Given the description of an element on the screen output the (x, y) to click on. 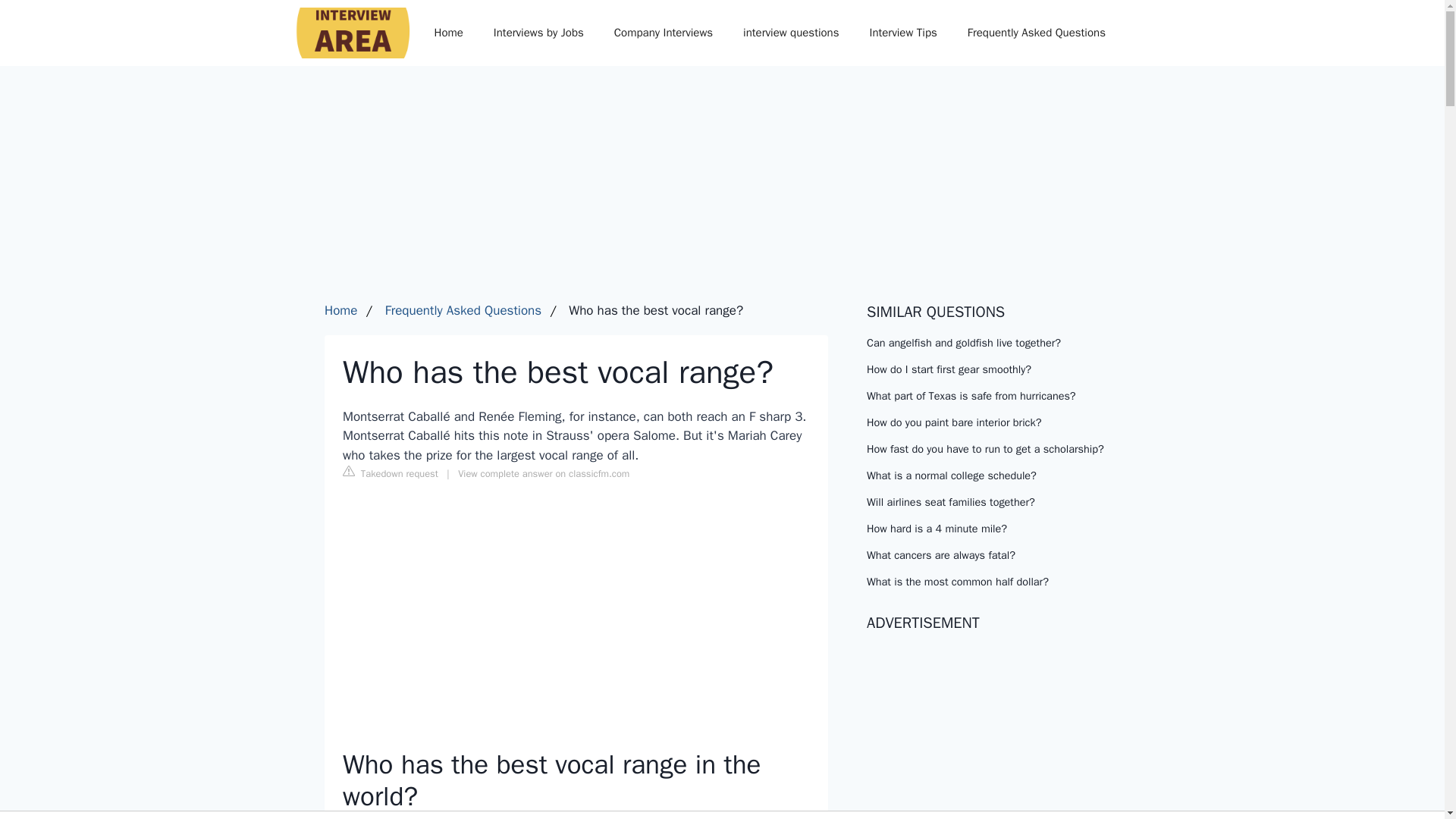
Takedown request (390, 473)
Interviews by Jobs (538, 32)
Home (448, 32)
Interview Area (342, 31)
Company Interviews (663, 32)
Interview Area (342, 32)
Home (340, 310)
Frequently Asked Questions (1036, 32)
Frequently Asked Questions (463, 310)
View complete answer on classicfm.com (543, 473)
